Given the description of an element on the screen output the (x, y) to click on. 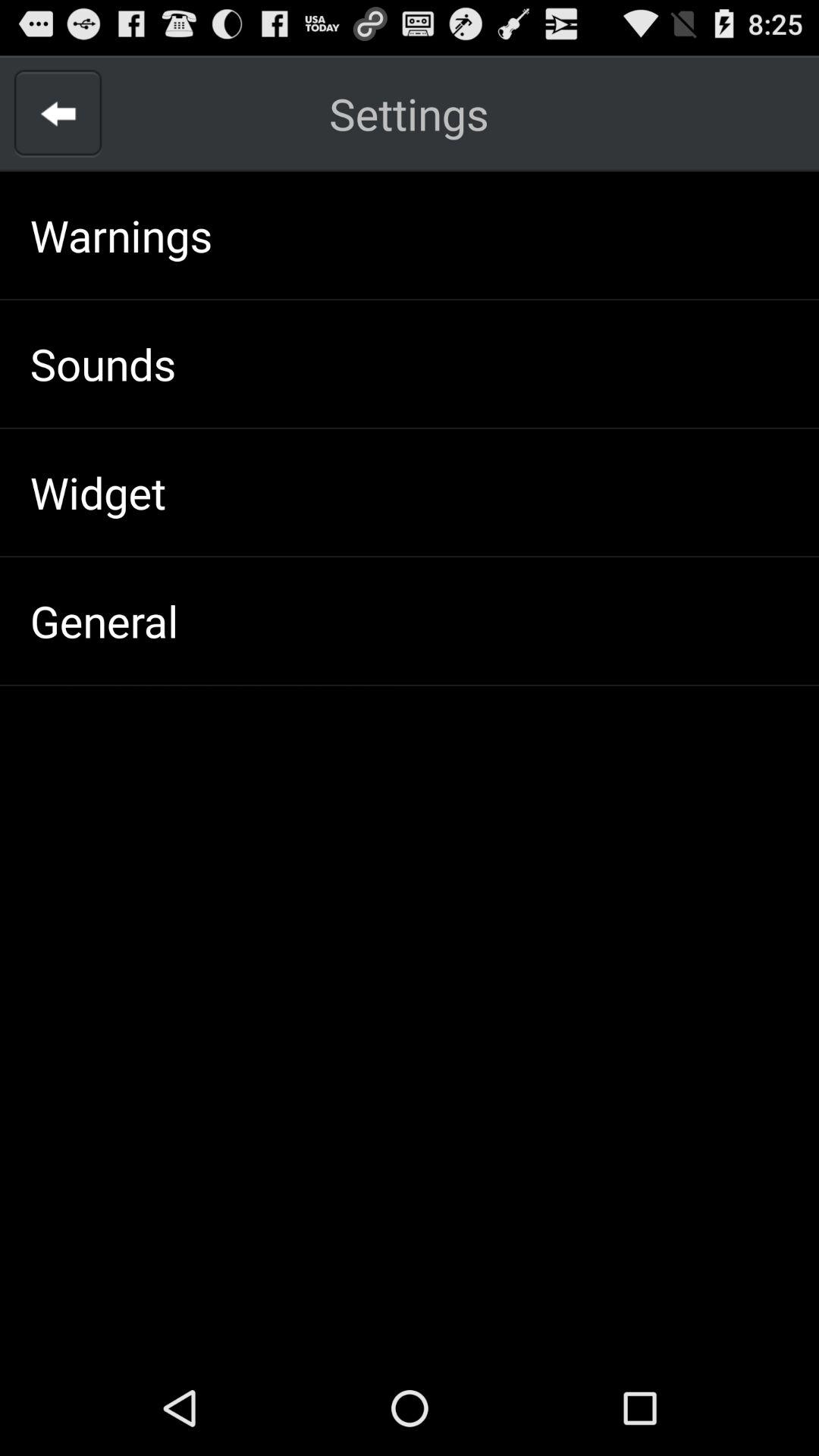
swipe until the general app (104, 620)
